Given the description of an element on the screen output the (x, y) to click on. 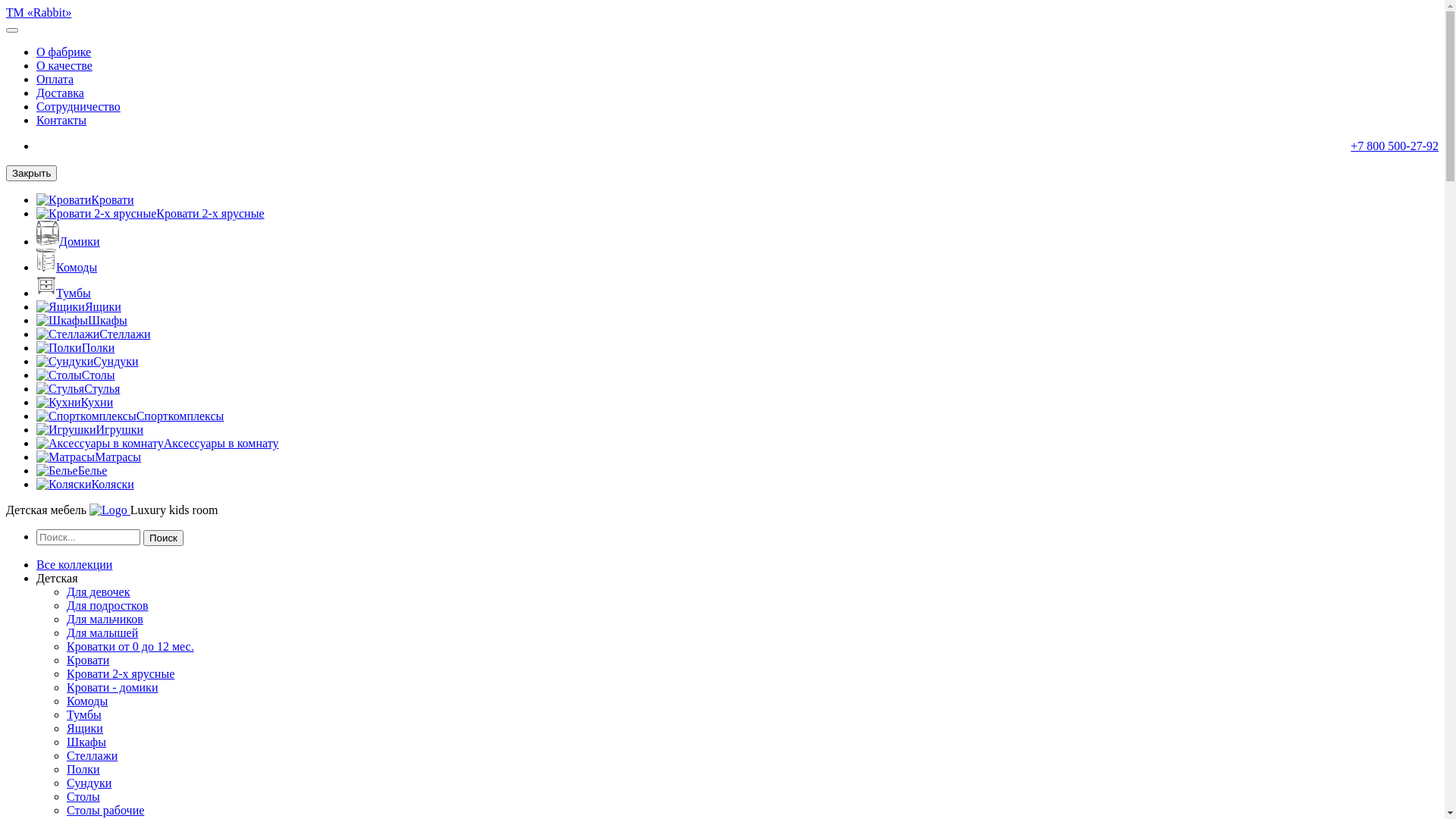
Luxury kids room Element type: text (174, 509)
+7 800 500-27-92 Element type: text (1394, 145)
